Given the description of an element on the screen output the (x, y) to click on. 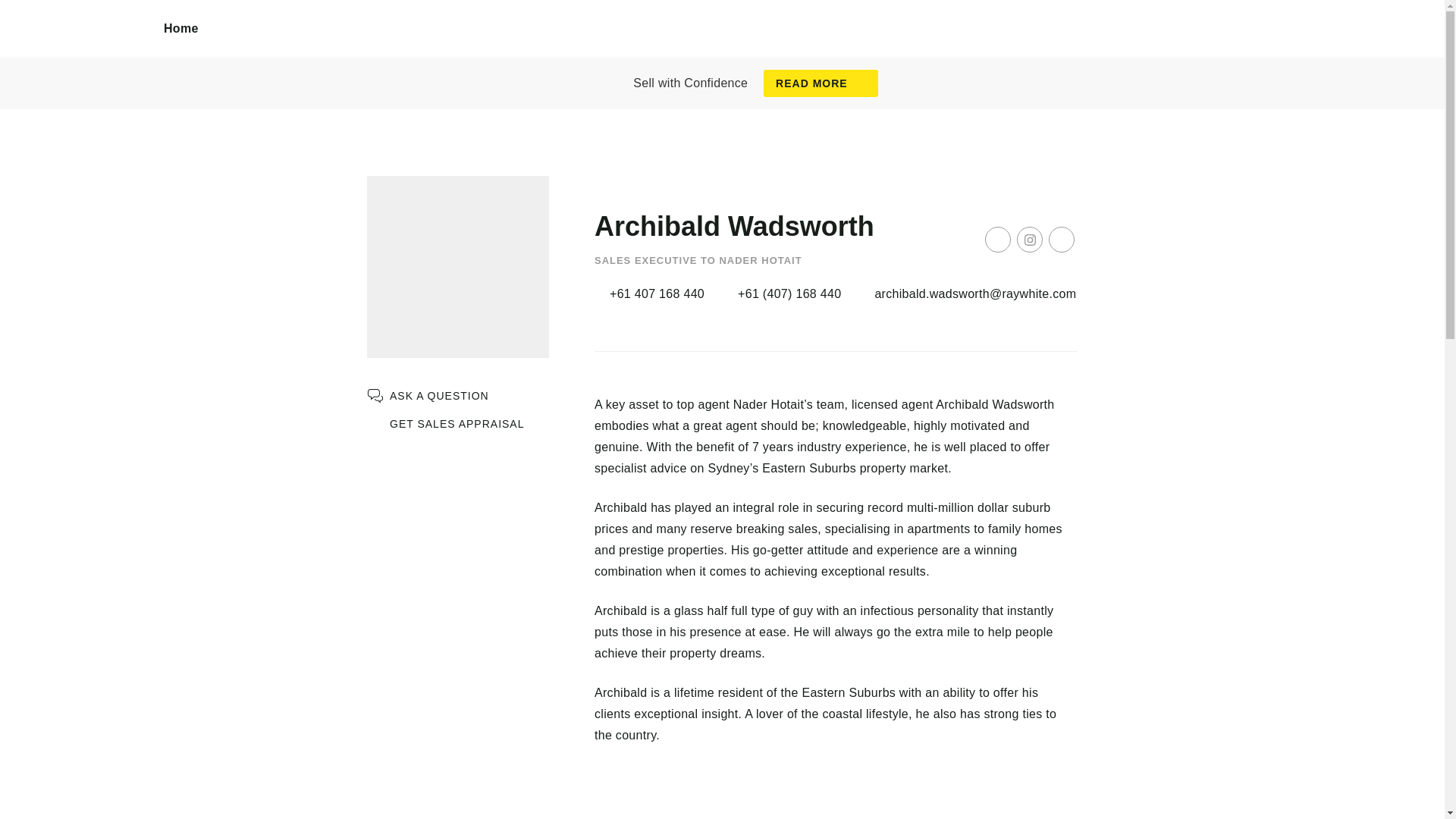
Instagram (1029, 239)
Ray White Eastern Beaches (82, 45)
LinkedIn (1061, 239)
Home (180, 28)
GET SALES APPRAISAL (445, 424)
READ MORE (819, 83)
Facebook (997, 239)
ASK A QUESTION (427, 396)
